Given the description of an element on the screen output the (x, y) to click on. 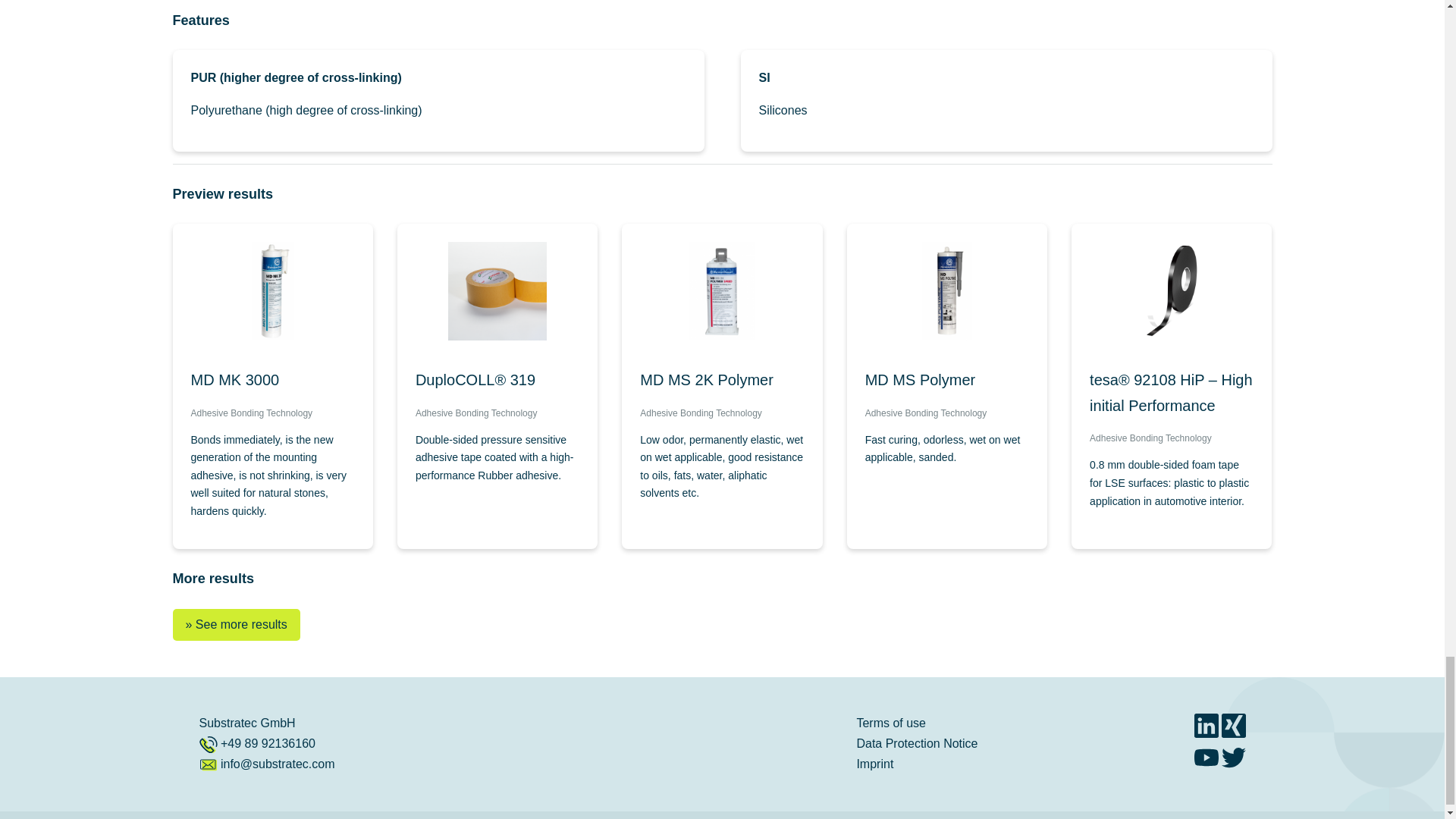
MD MS 2K Polymer (721, 380)
Imprint (874, 763)
Terms of use (891, 722)
Data Protection Notice (916, 743)
MD MK 3000 (272, 380)
MD MS Polymer (946, 380)
